Given the description of an element on the screen output the (x, y) to click on. 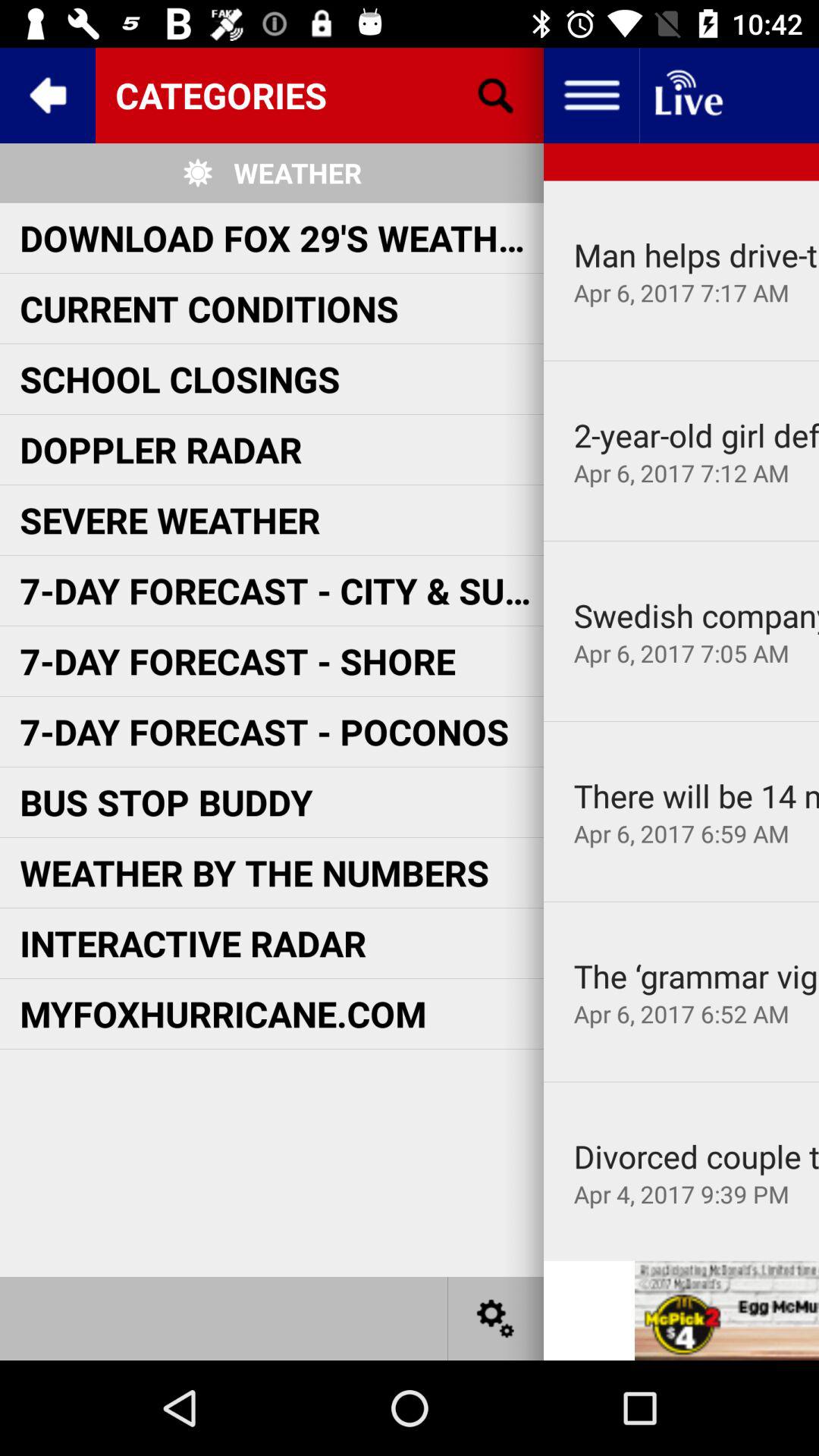
choose the icon below the 7 day forecast item (165, 802)
